Given the description of an element on the screen output the (x, y) to click on. 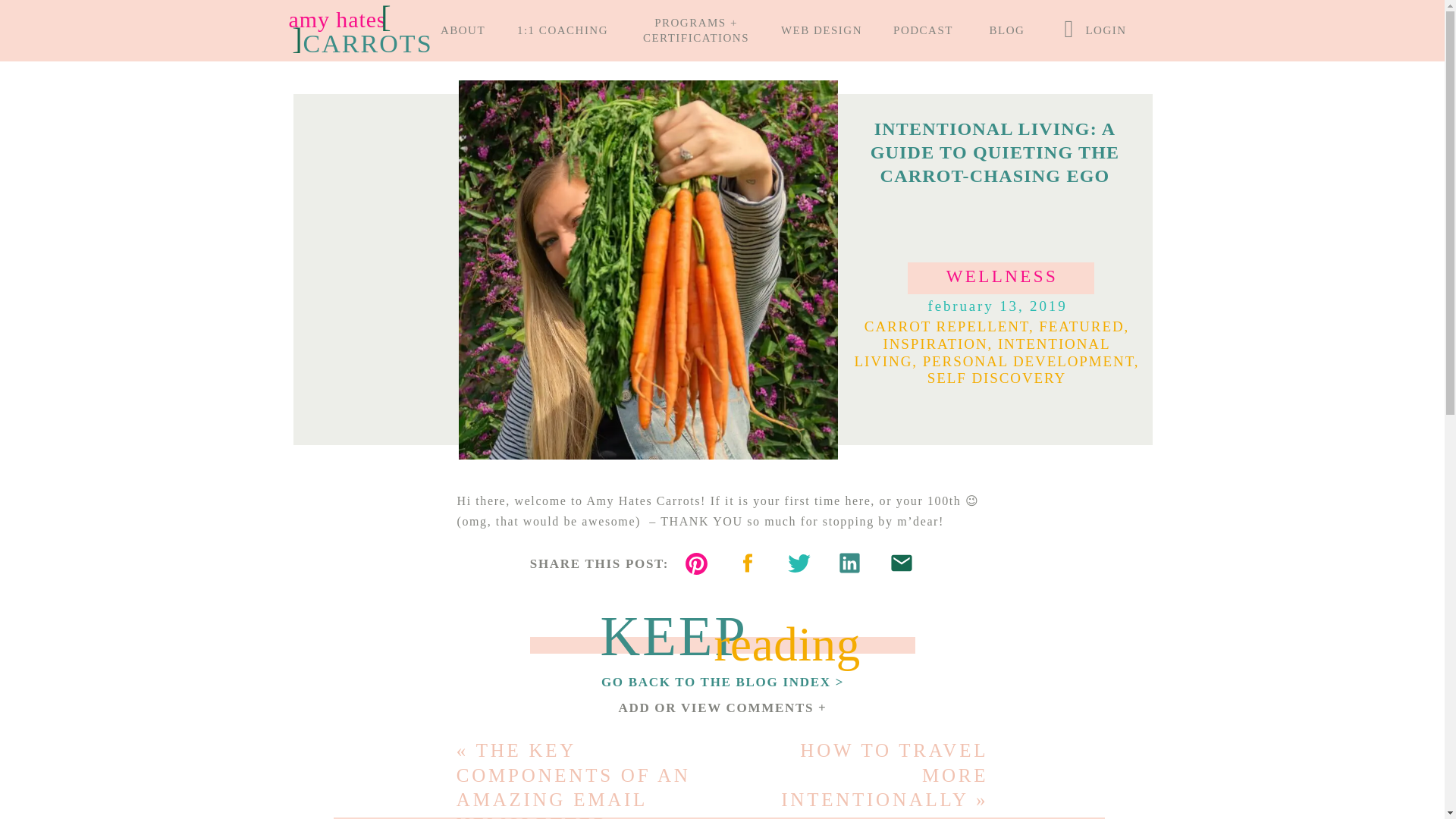
BLOG (1007, 30)
PODCAST (923, 30)
WEB DESIGN (821, 30)
INSPIRATION (934, 343)
1:1 COACHING (562, 30)
INTENTIONAL LIVING (981, 352)
ABOUT (462, 30)
amy hates (337, 22)
CARROT REPELLENT (946, 326)
FEATURED (1081, 326)
